Given the description of an element on the screen output the (x, y) to click on. 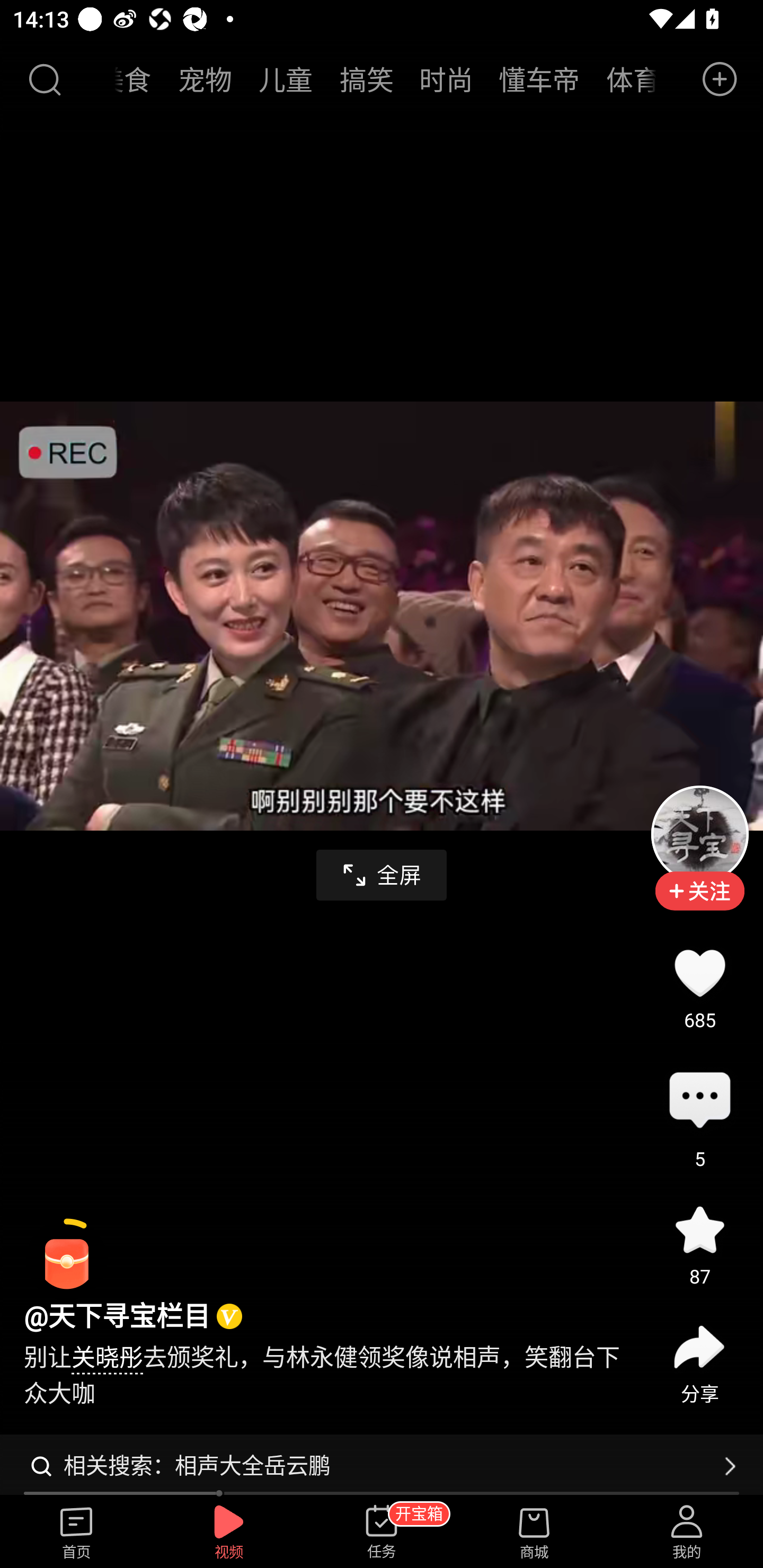
宠物 (204, 79)
儿童 (285, 79)
搞笑 (366, 79)
时尚 (446, 79)
懂车帝 (538, 79)
体育 (624, 79)
搜索 (44, 79)
发布 (720, 79)
头像 (699, 833)
全屏播放 (381, 874)
点赞685 685 (699, 972)
评论5 评论 5 (699, 1101)
收藏 87 (699, 1229)
阅读赚金币 (66, 1259)
分享 (699, 1347)
@天下寻宝栏目 (116, 1316)
相关搜索：相声大全岳云鹏 (381, 1465)
首页 (76, 1532)
视频 (228, 1532)
任务 开宝箱 (381, 1532)
商城 (533, 1532)
我的 (686, 1532)
